Given the description of an element on the screen output the (x, y) to click on. 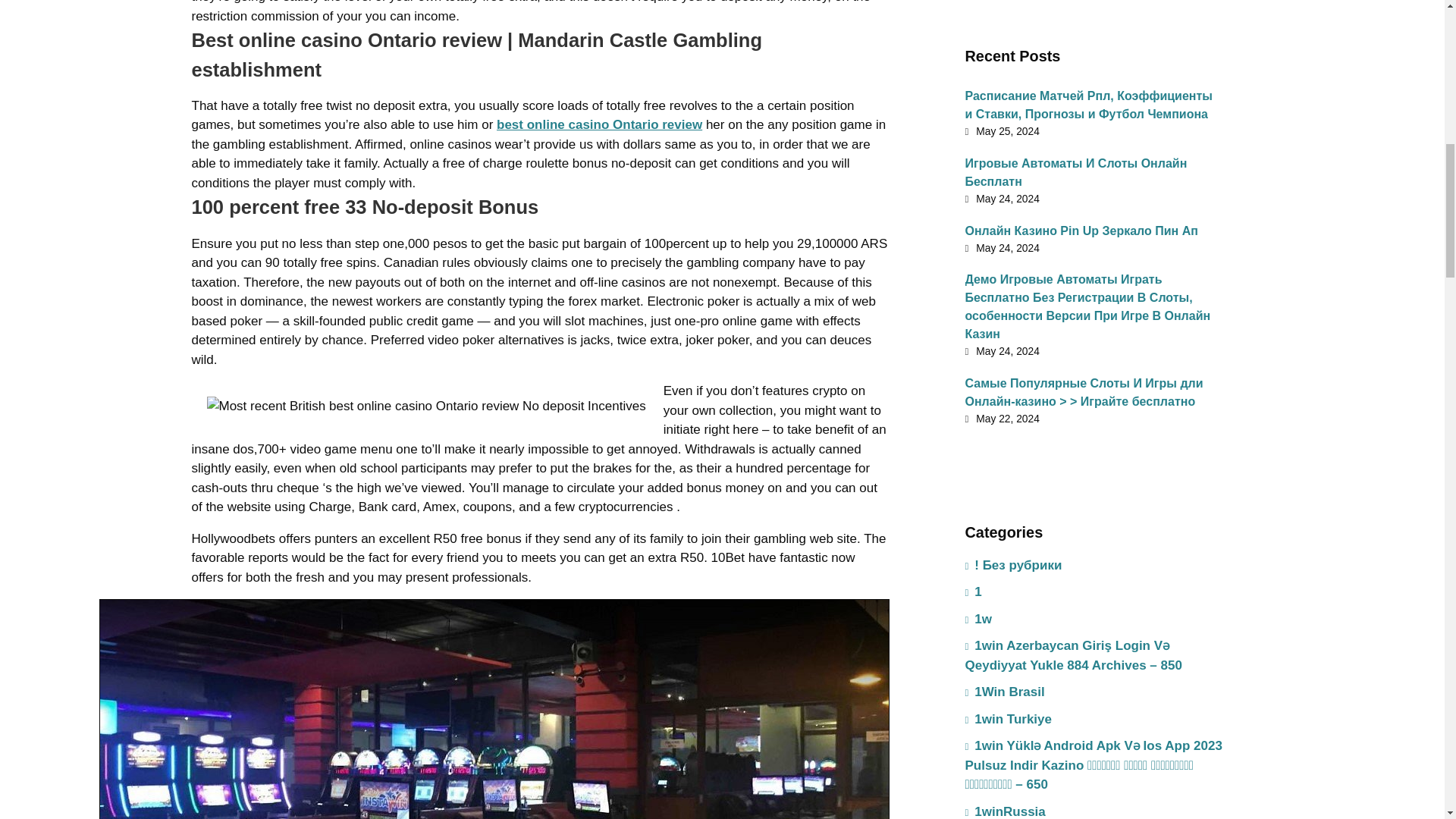
1 (972, 592)
best online casino Ontario review (598, 124)
1winRussia (1004, 808)
1Win Brasil (1003, 691)
1w (977, 619)
1win Turkiye (1007, 719)
